Given the description of an element on the screen output the (x, y) to click on. 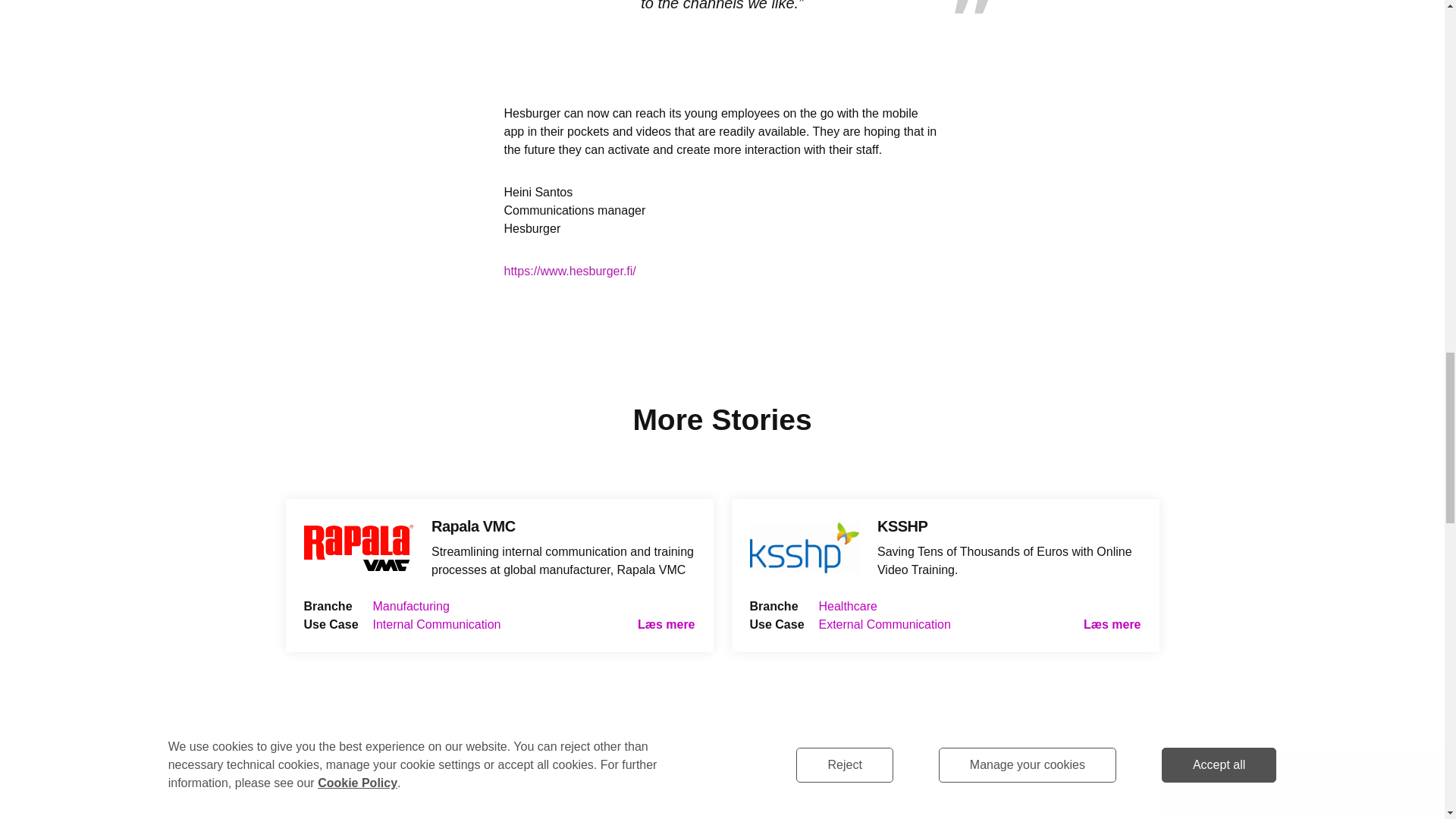
External Communication (884, 624)
Internal Communication (436, 624)
Manufacturing (410, 605)
Healthcare (847, 605)
